Given the description of an element on the screen output the (x, y) to click on. 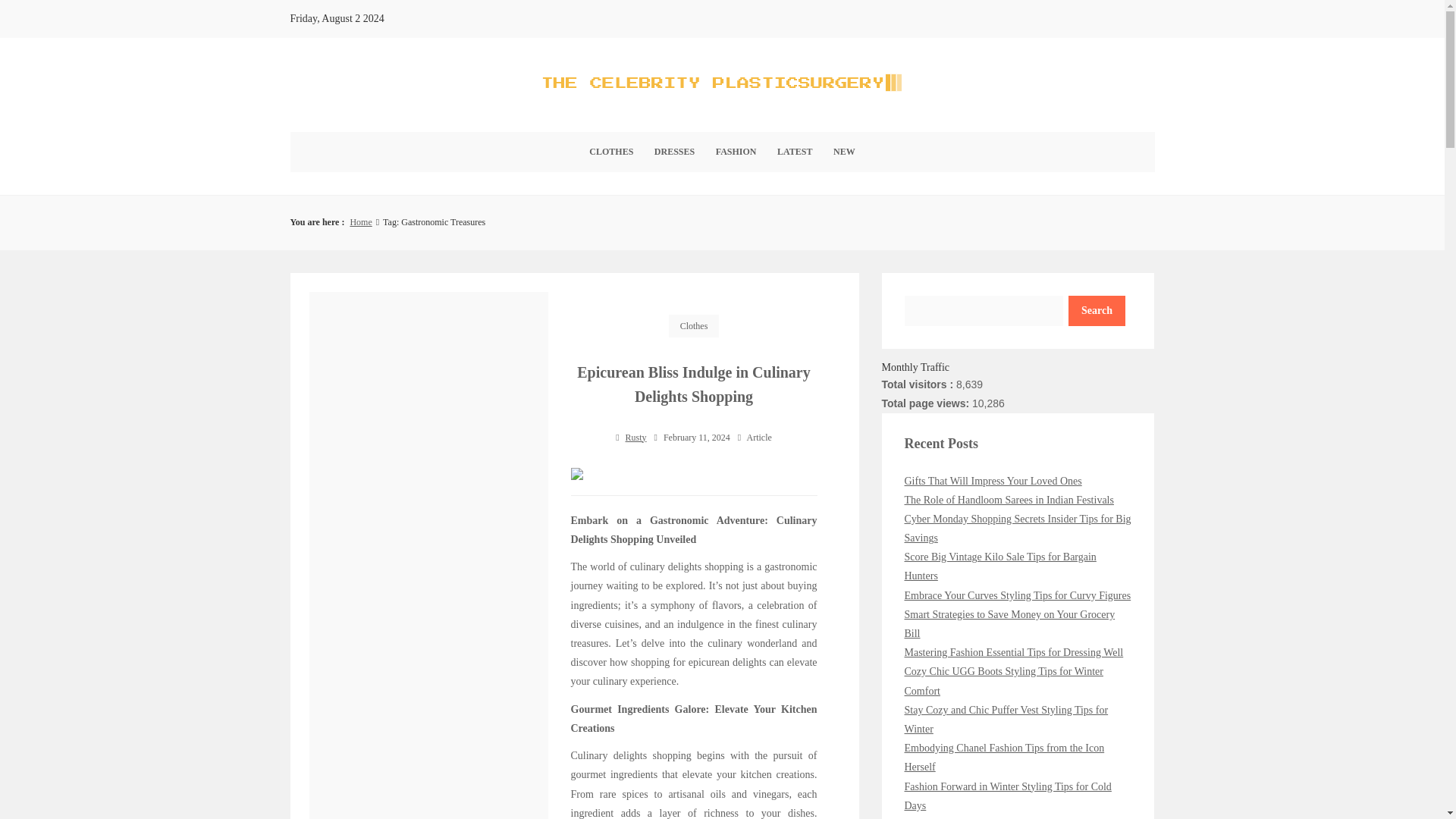
DRESSES (674, 151)
CLOTHES (610, 151)
Posts by Rusty (636, 437)
Search (1096, 310)
